Given the description of an element on the screen output the (x, y) to click on. 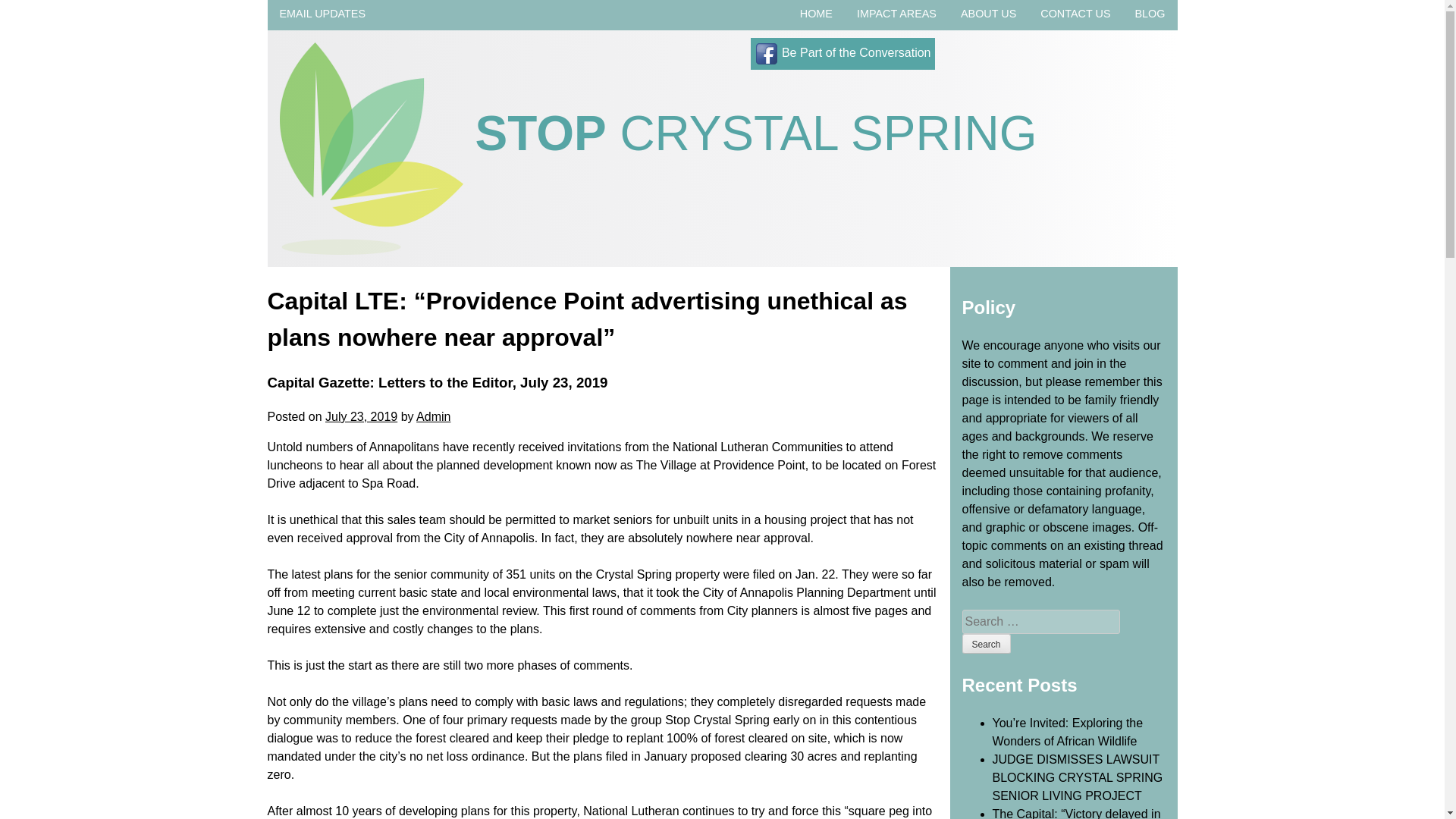
EMAIL UPDATES (322, 13)
Search (985, 643)
CONTACT US (1075, 13)
ABOUT US (988, 13)
Search (985, 643)
HOME (815, 13)
Admin (432, 416)
Be Part of the Conversation (842, 51)
